Given the description of an element on the screen output the (x, y) to click on. 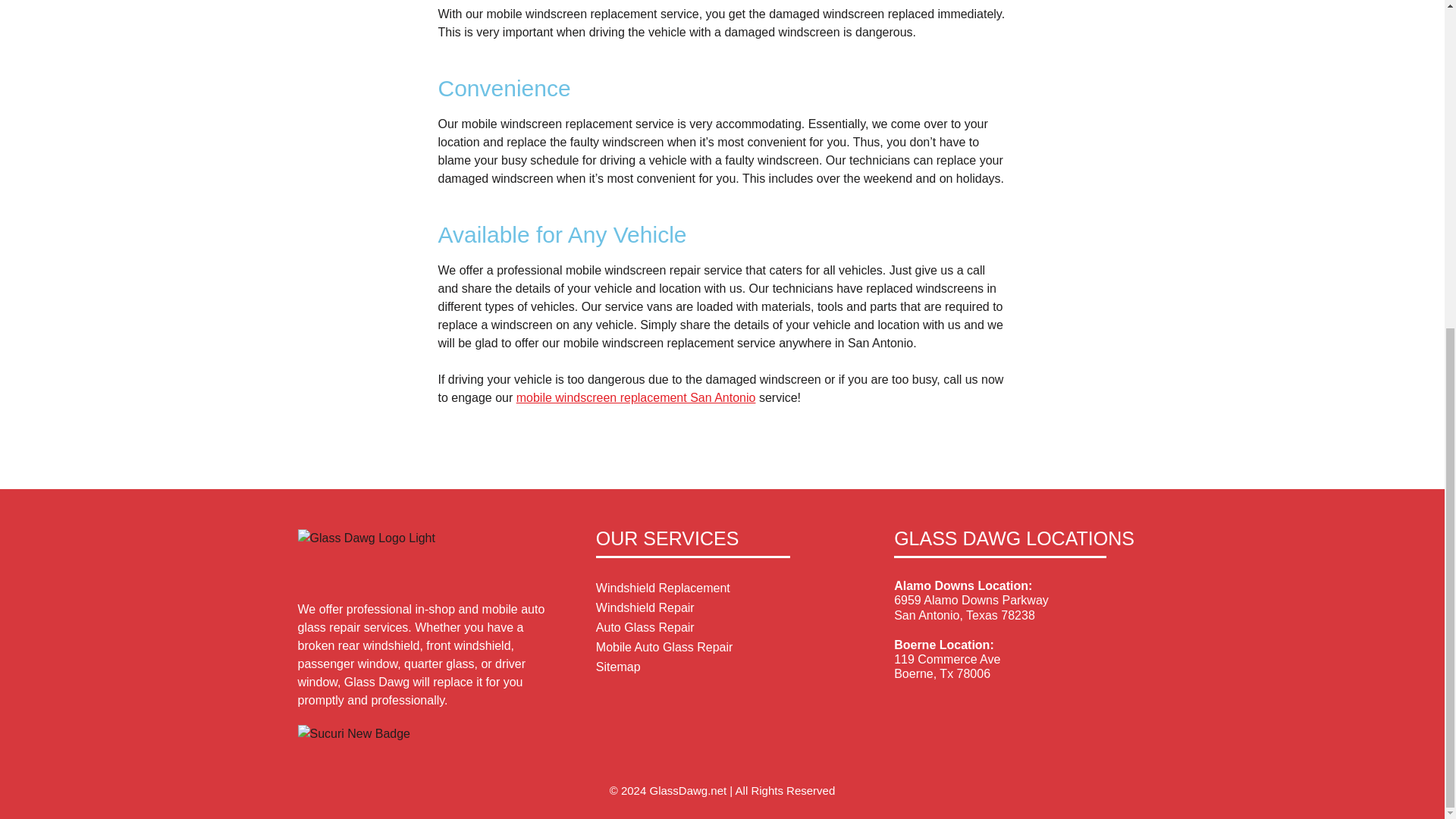
Mobile Auto Glass Repair (721, 647)
Sitemap (721, 667)
mobile windscreen replacement San Antonio (635, 397)
Windshield Repair (721, 608)
Windshield Replacement (721, 588)
Auto Glass Repair (721, 628)
